Given the description of an element on the screen output the (x, y) to click on. 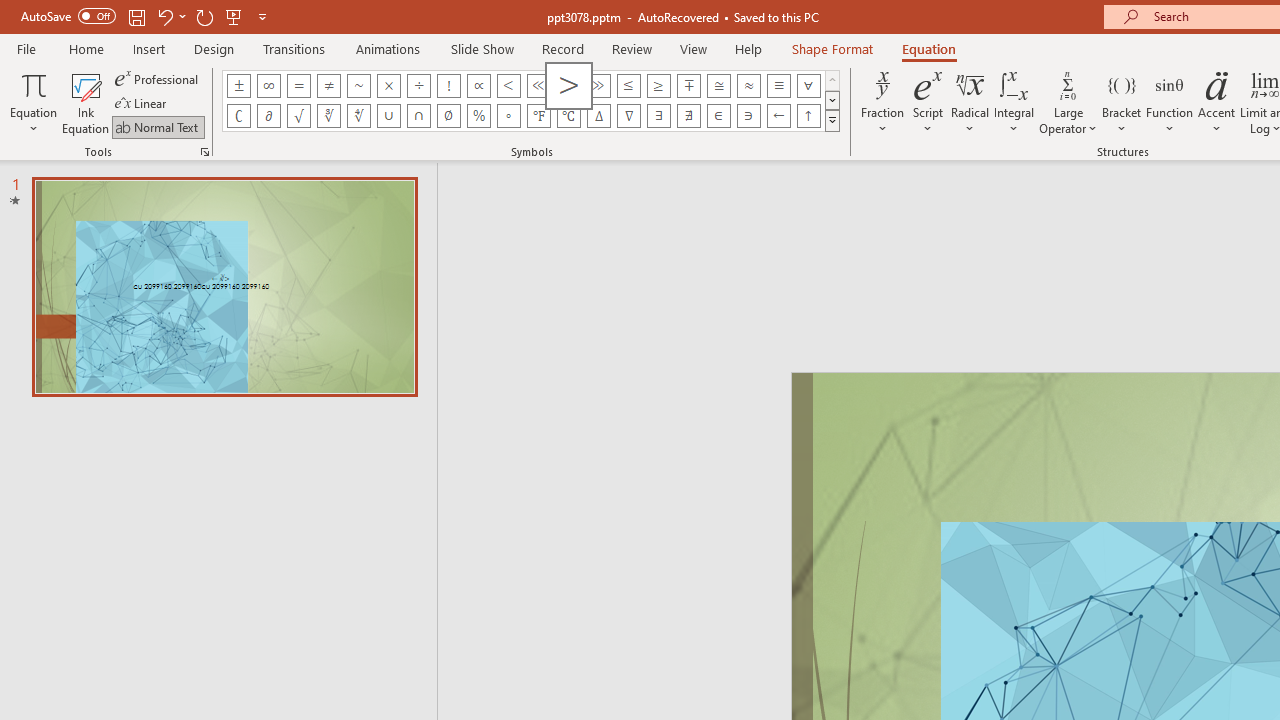
Equation Symbol Union (388, 115)
Equation Symbol Approximately Equal To (718, 85)
Equation Symbol Greater Than or Equal To (658, 85)
Fraction (882, 102)
Equation Symbol Minus Plus (689, 85)
Equation Symbol Not Equal To (328, 85)
Large Operator (1067, 102)
